Given the description of an element on the screen output the (x, y) to click on. 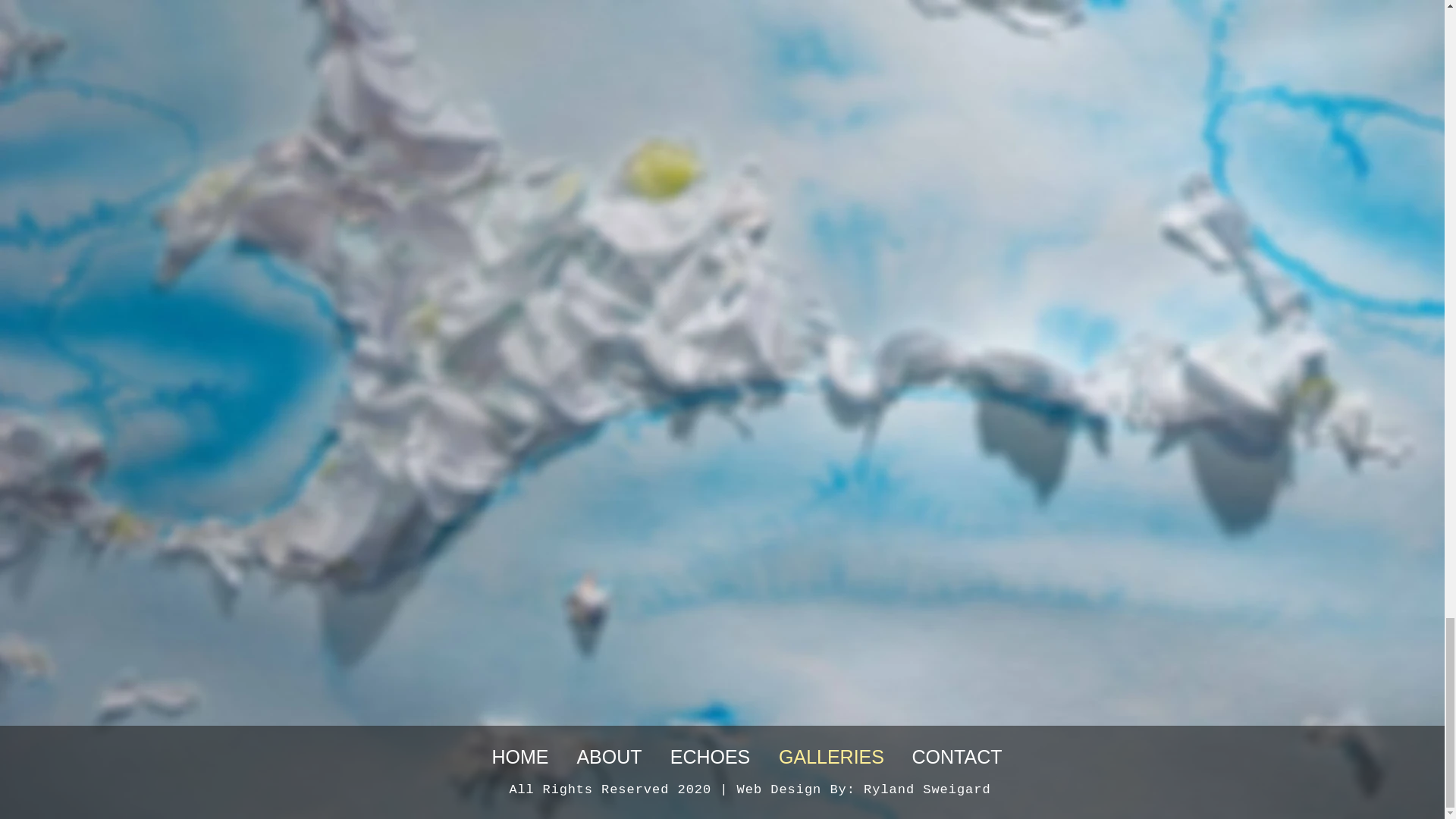
CONTACT (956, 756)
GALLERIES (831, 756)
ABOUT (609, 756)
ECHOES (710, 756)
HOME (519, 756)
